Given the description of an element on the screen output the (x, y) to click on. 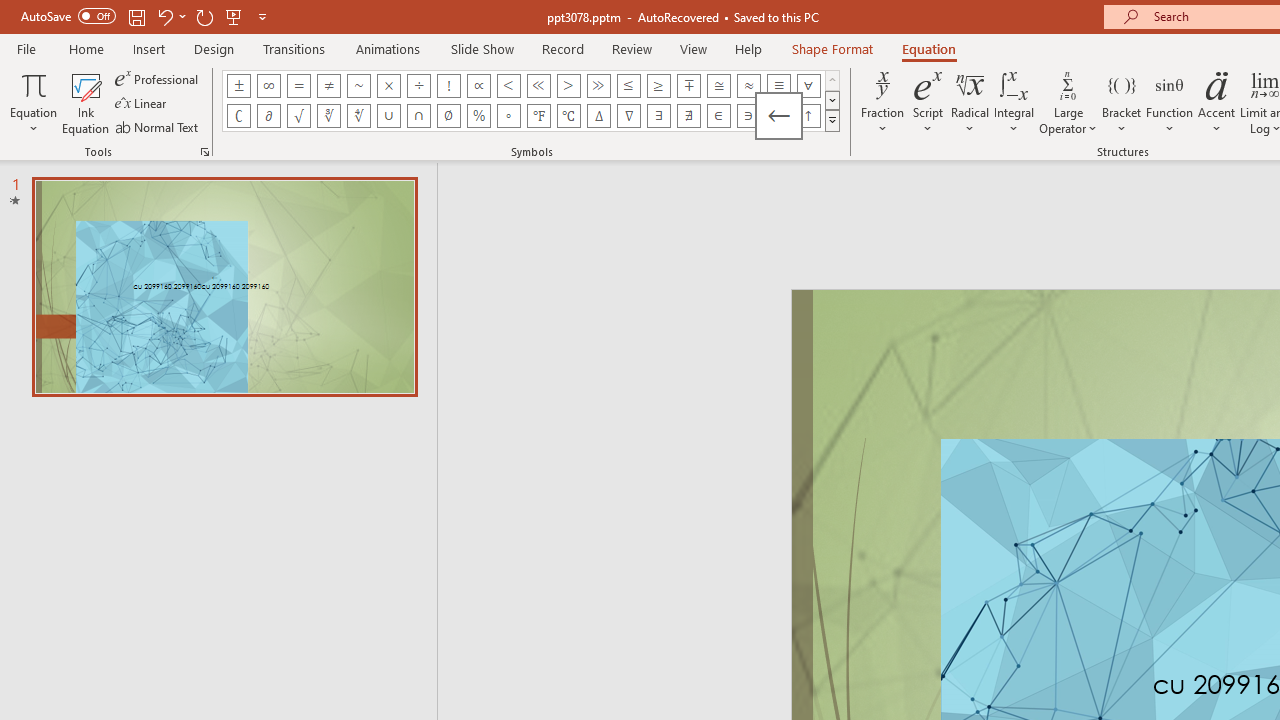
Equation Symbol Radical Sign (298, 115)
Equation Symbol There Exists (658, 115)
Equation Symbol Fourth Root (358, 115)
Equation Symbol For All (808, 85)
Normal Text (158, 126)
Ink Equation (86, 102)
Equation Symbol Intersection (418, 115)
